Given the description of an element on the screen output the (x, y) to click on. 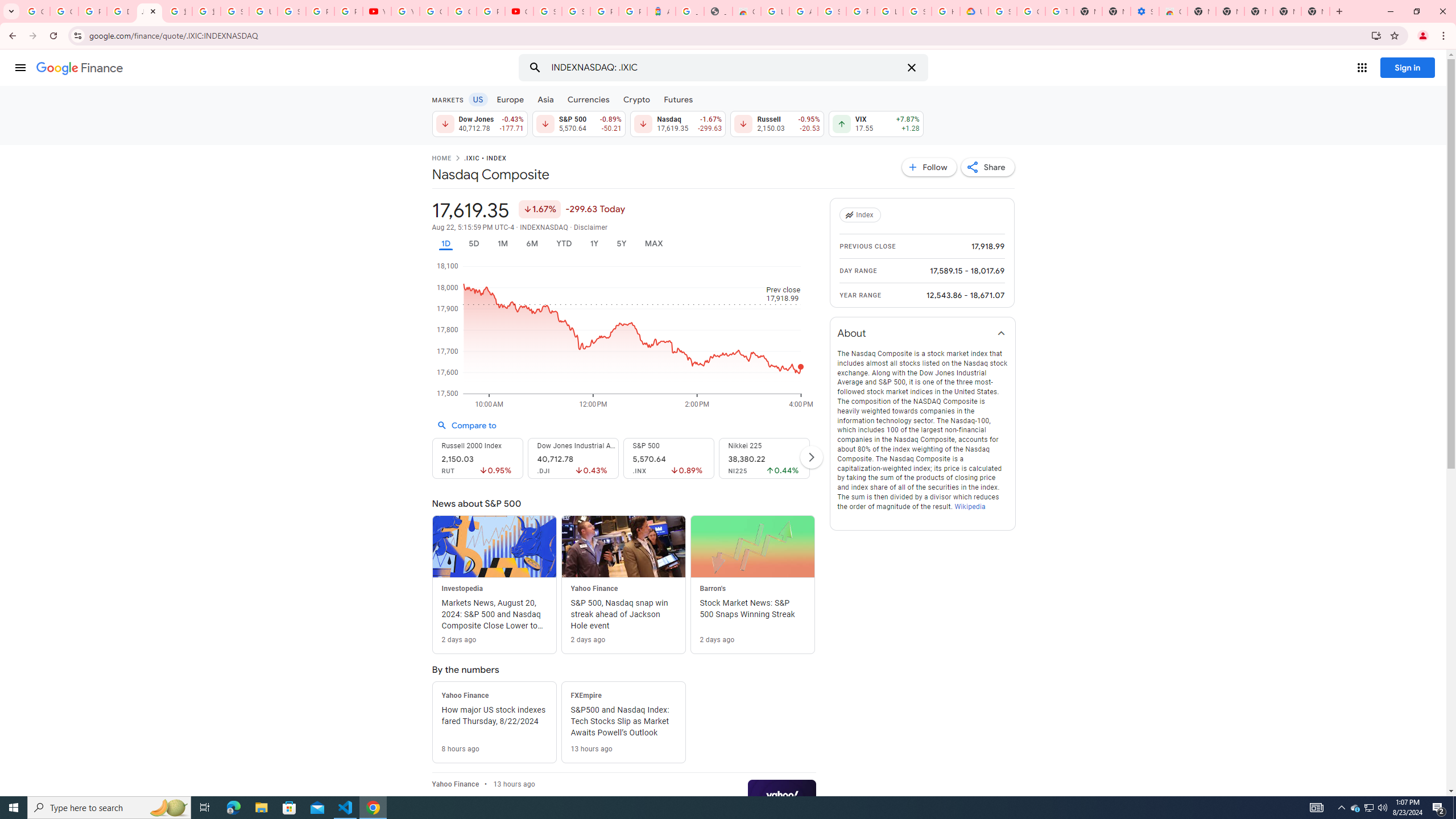
YouTube (377, 11)
Sign in - Google Accounts (547, 11)
Turn cookies on or off - Computer - Google Account Help (1058, 11)
S&P 500 5,570.64 Down by 0.89% -50.21 (578, 123)
Sign in - Google Accounts (234, 11)
MAX (653, 243)
Ad Settings (803, 11)
Sign in - Google Accounts (1002, 11)
Russell 2,150.03 Down by 0.95% -20.53 (777, 123)
